Given the description of an element on the screen output the (x, y) to click on. 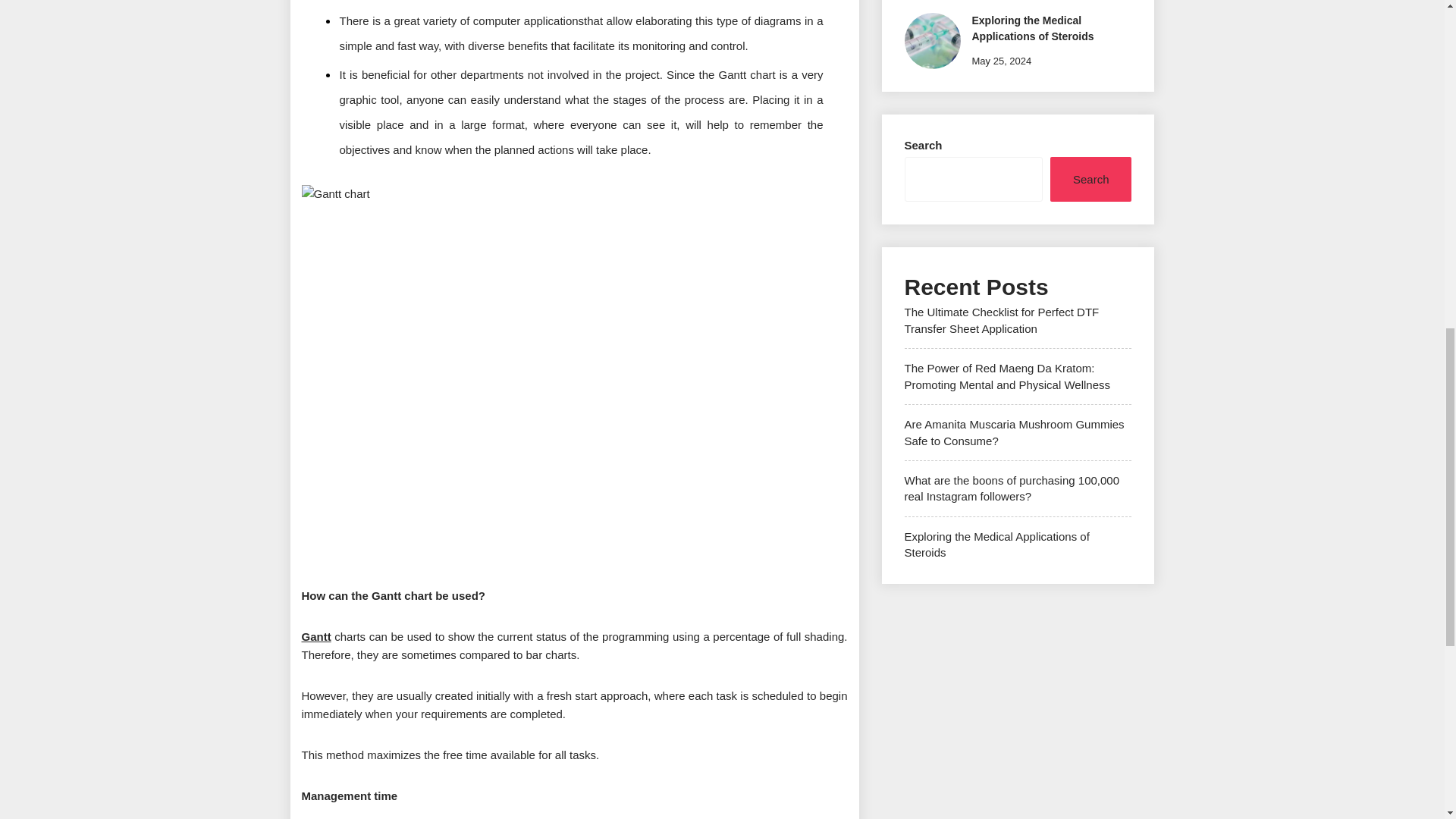
Exploring the Medical Applications of Steroids (1033, 28)
Exploring the Medical Applications of Steroids (996, 543)
Are Amanita Muscaria Mushroom Gummies Safe to Consume? (1014, 431)
Search (1090, 179)
Gantt (316, 635)
